Given the description of an element on the screen output the (x, y) to click on. 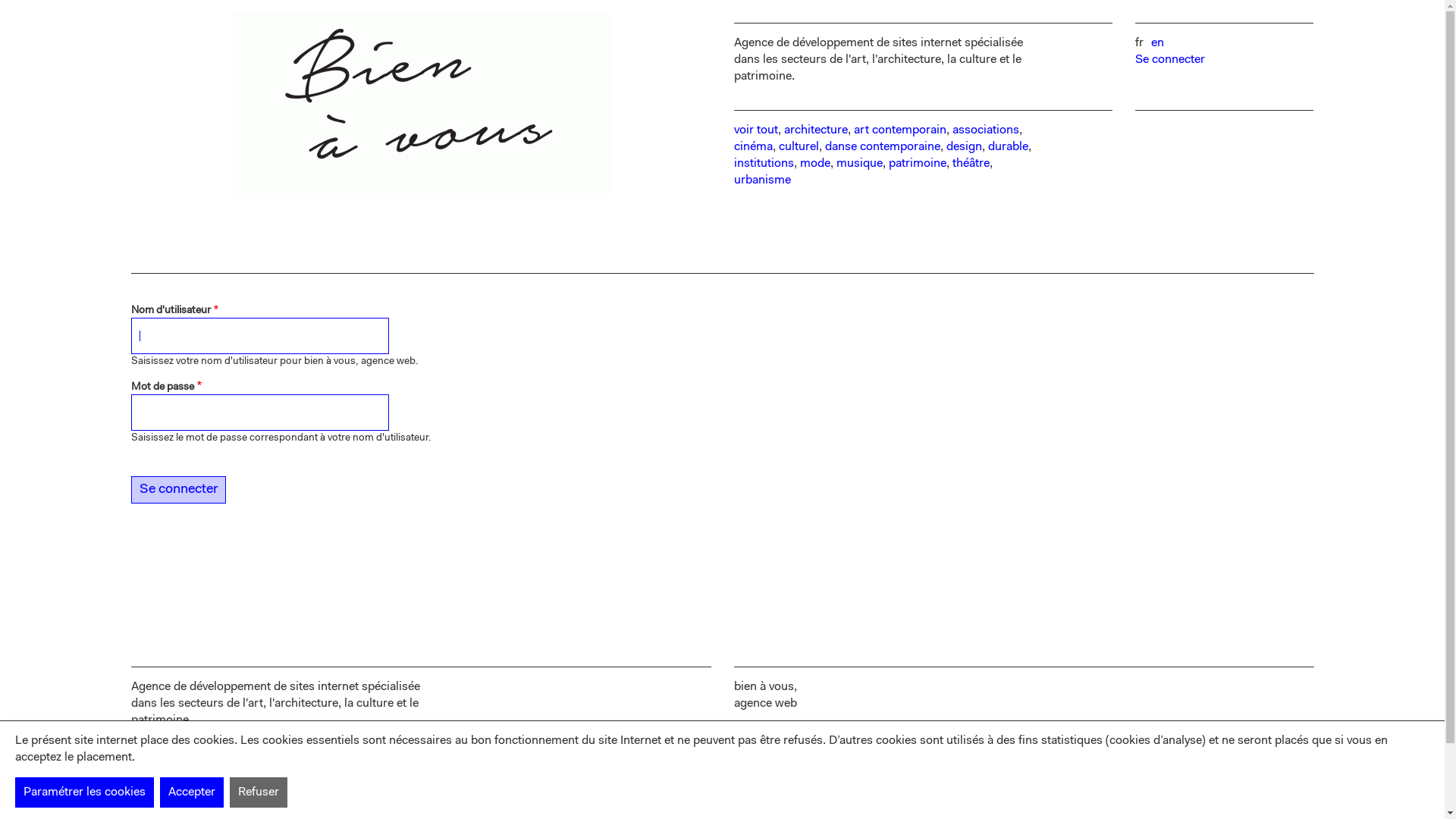
urbanisme Element type: text (762, 180)
Refuser Element type: text (258, 792)
institutions Element type: text (763, 163)
design Element type: text (964, 147)
82 rue le lorrain
1080 bruxelles Element type: text (776, 745)
voir tout Element type: text (756, 130)
mode Element type: text (814, 163)
musique Element type: text (858, 163)
danse contemporaine Element type: text (882, 147)
Se connecter Element type: text (177, 489)
Se connecter Element type: text (1169, 59)
associations Element type: text (985, 130)
culturel Element type: text (798, 147)
en Element type: text (1157, 43)
patrimoine Element type: text (917, 163)
Accueil Element type: hover (420, 107)
+32 2 787.60.61 Element type: text (777, 770)
fr Element type: text (1139, 43)
art contemporain Element type: text (899, 130)
contact@bienavous.be Element type: text (795, 787)
durable Element type: text (1007, 147)
Accepter Element type: text (191, 792)
architecture Element type: text (815, 130)
